Given the description of an element on the screen output the (x, y) to click on. 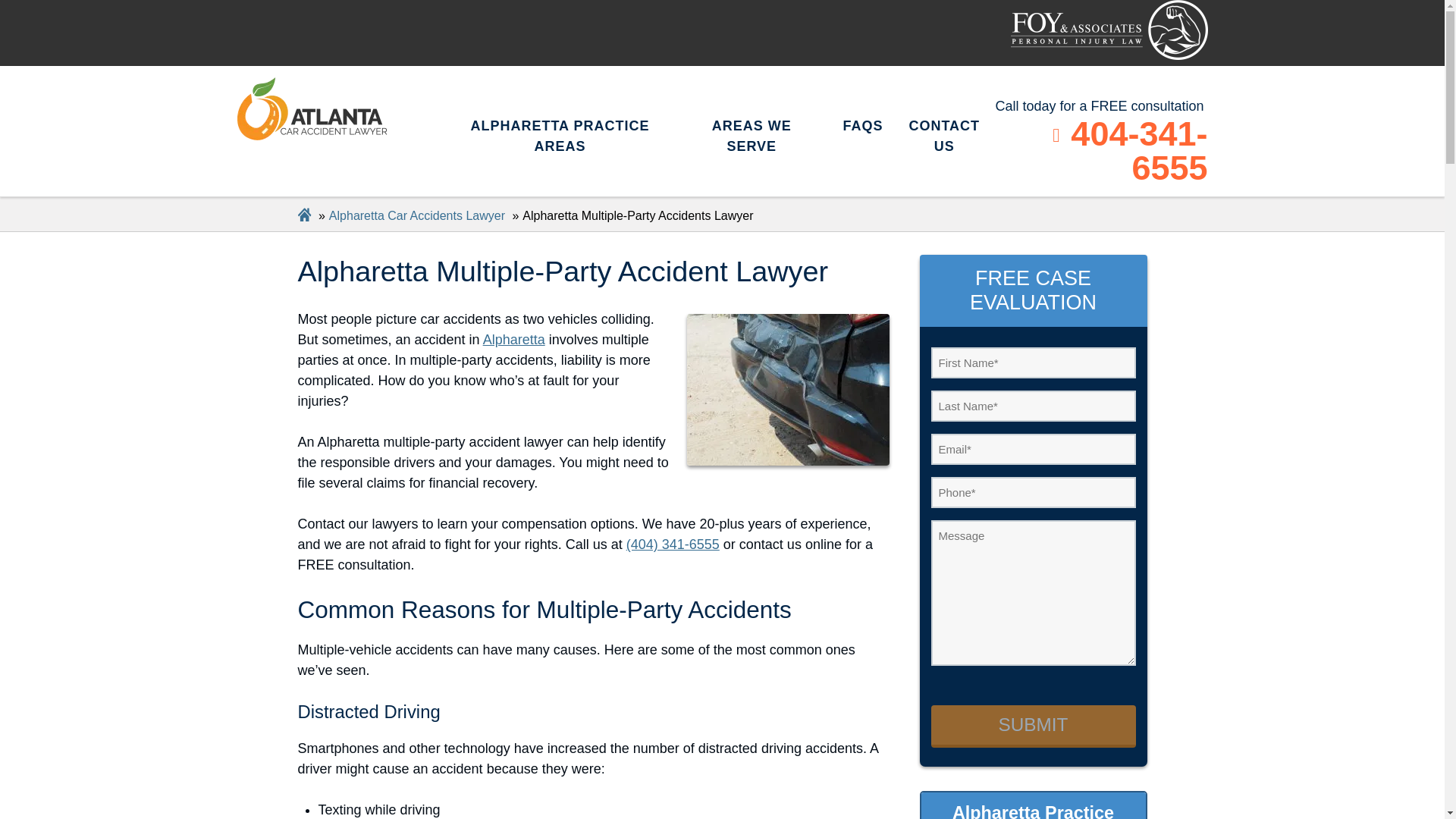
ALPHARETTA PRACTICE AREAS (566, 136)
AREAS WE SERVE (758, 136)
Submit (1033, 726)
Atlanta Car Accident Lawyer (1108, 29)
